Given the description of an element on the screen output the (x, y) to click on. 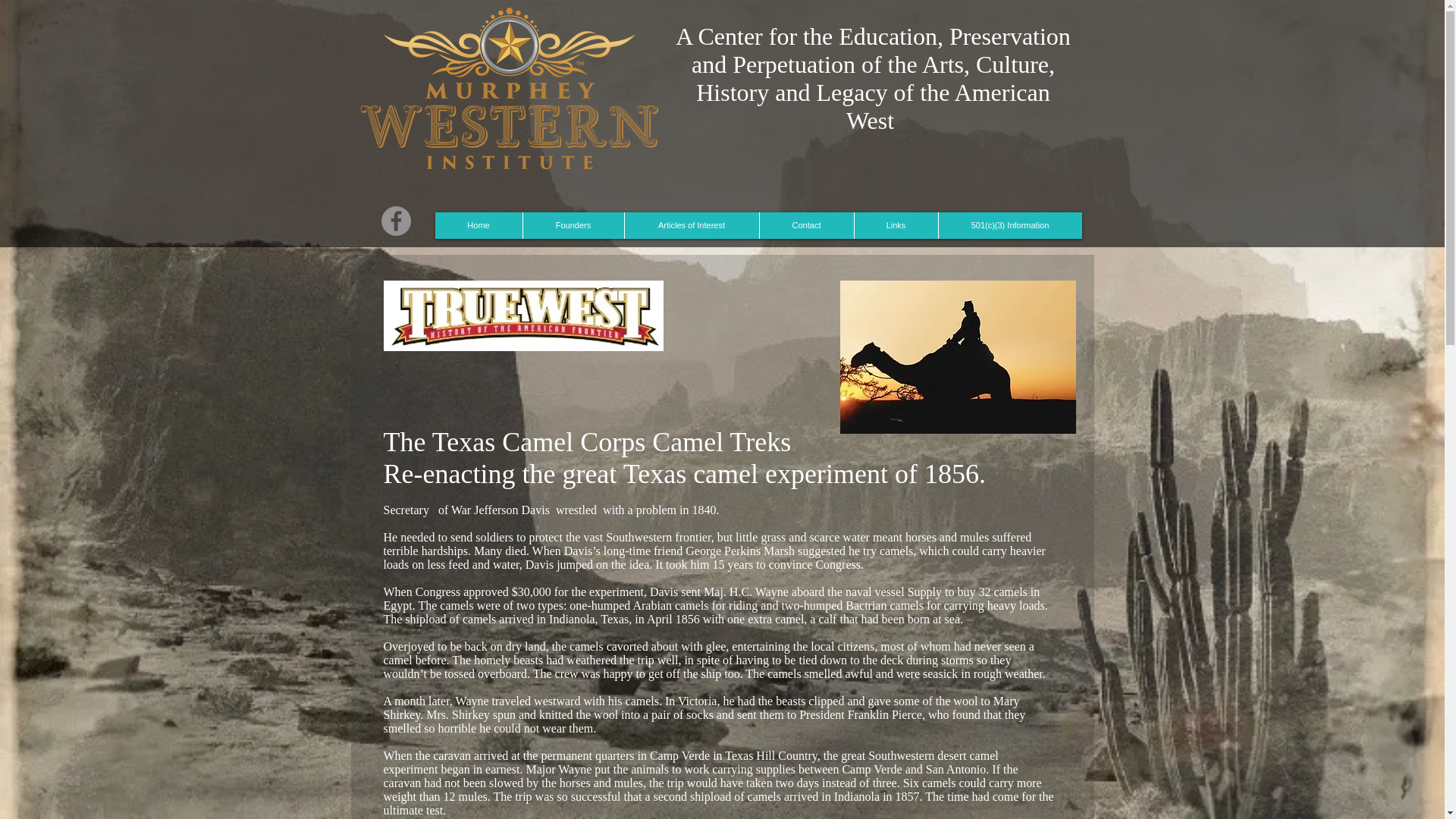
Contact (805, 225)
Articles of Interest (690, 225)
Links (895, 225)
Embedded Content (1006, 182)
Founders (572, 225)
Home (478, 225)
